Given the description of an element on the screen output the (x, y) to click on. 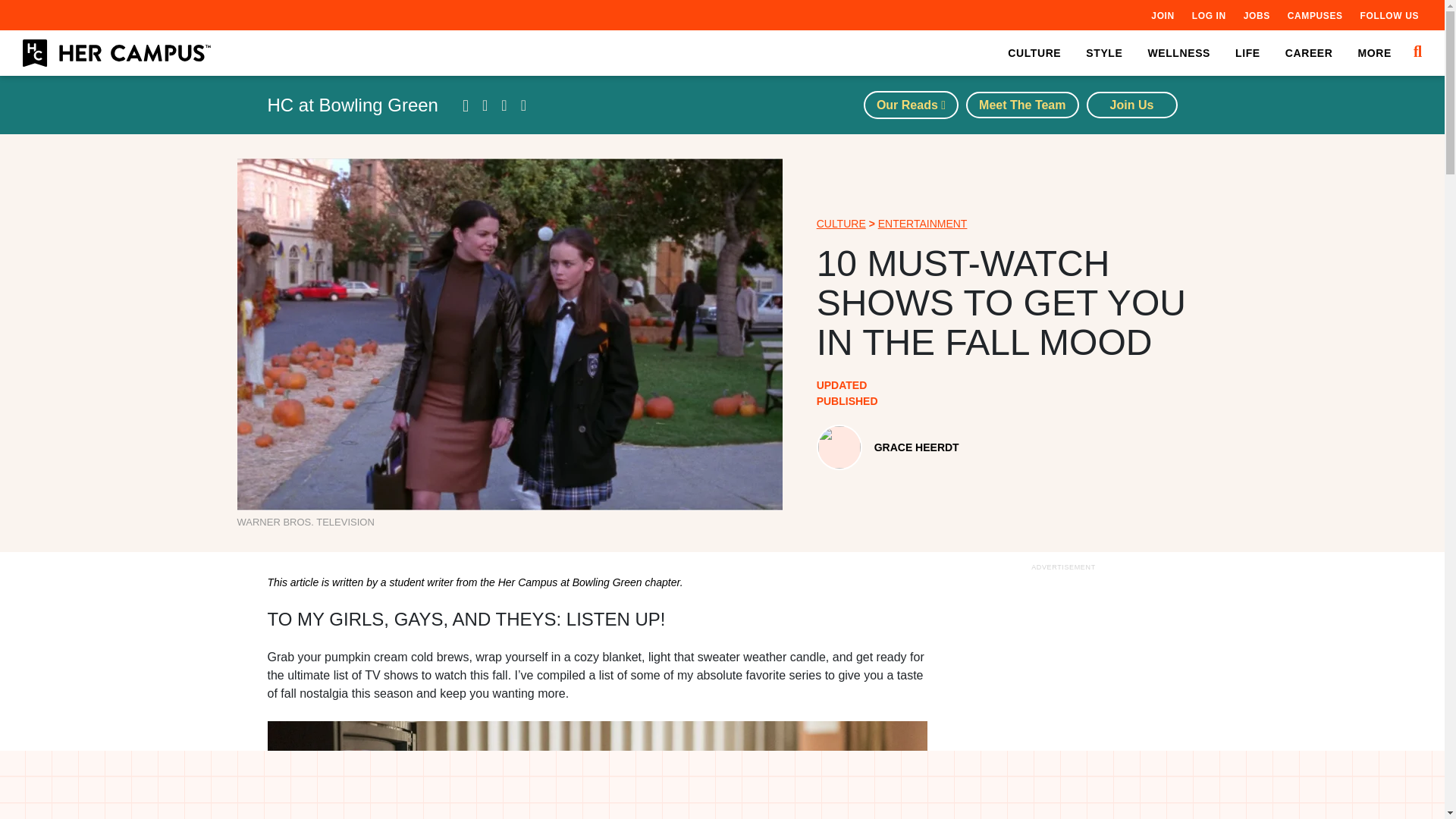
10 Must-Watch Shows to Get You in the Fall Mood 3 (596, 770)
LOG IN (1208, 15)
JOIN (1162, 15)
JOBS (1256, 15)
CAMPUSES (1314, 15)
